Given the description of an element on the screen output the (x, y) to click on. 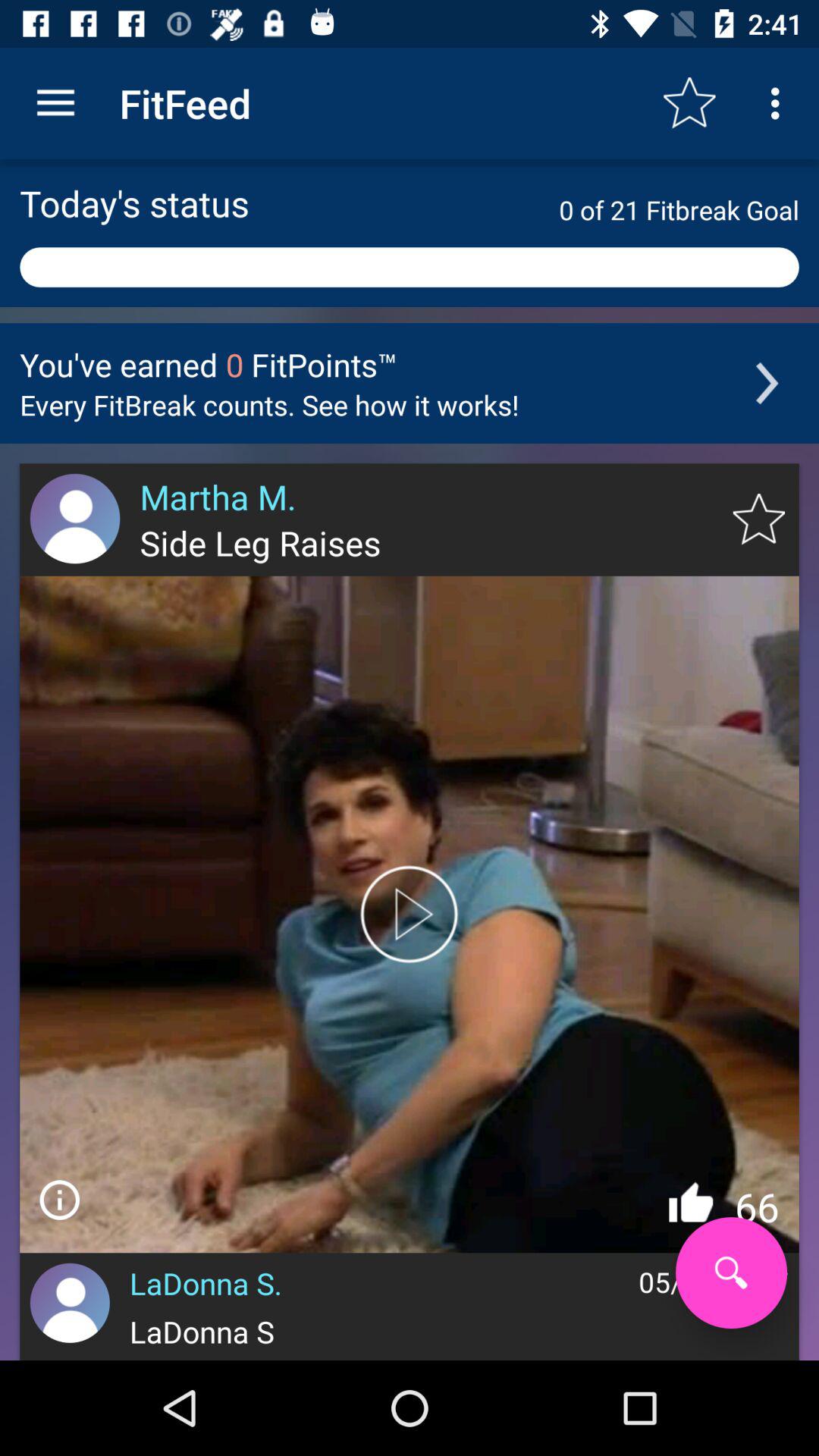
serce (731, 1272)
